Given the description of an element on the screen output the (x, y) to click on. 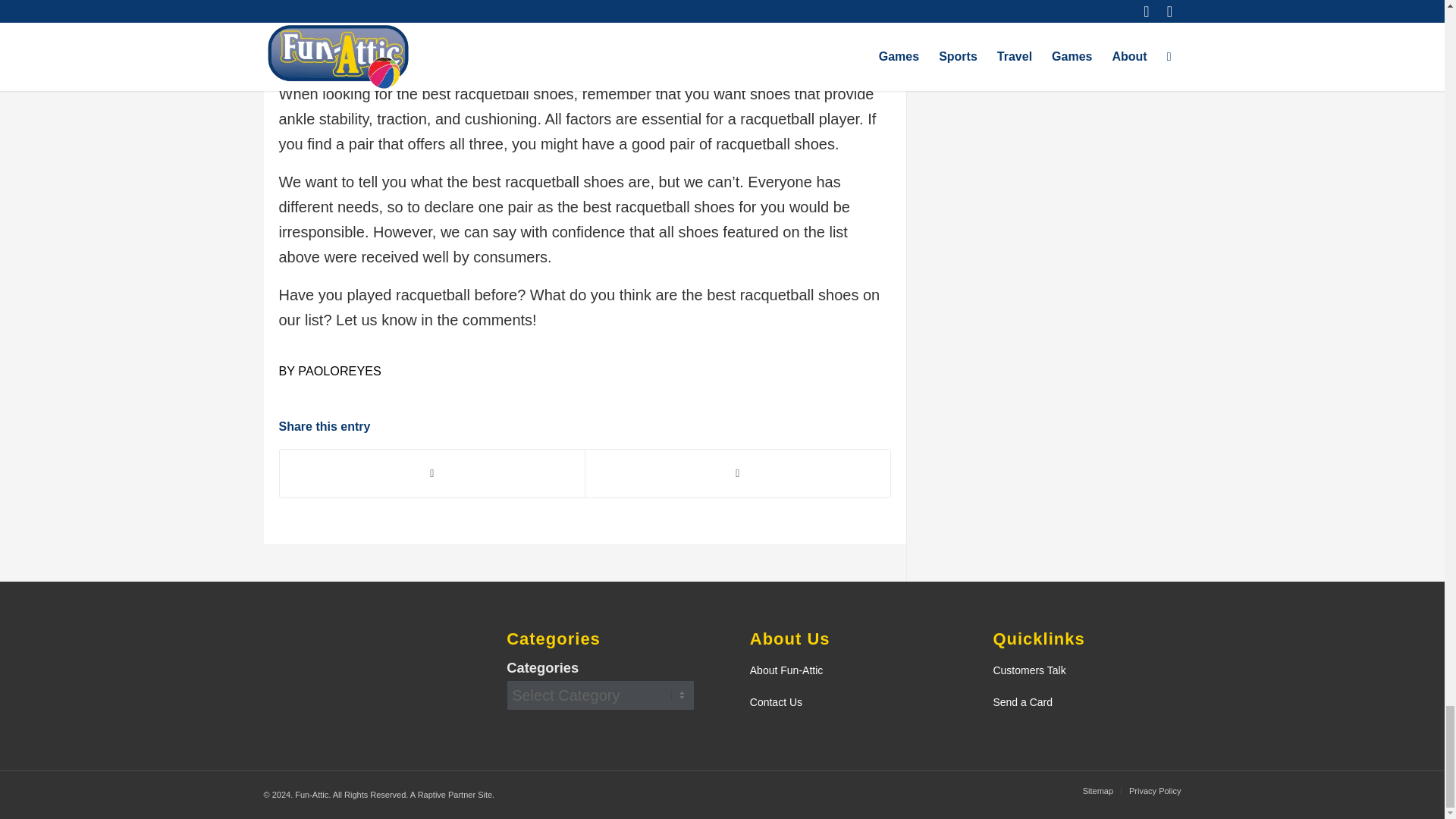
PAOLOREYES (339, 370)
